Given the description of an element on the screen output the (x, y) to click on. 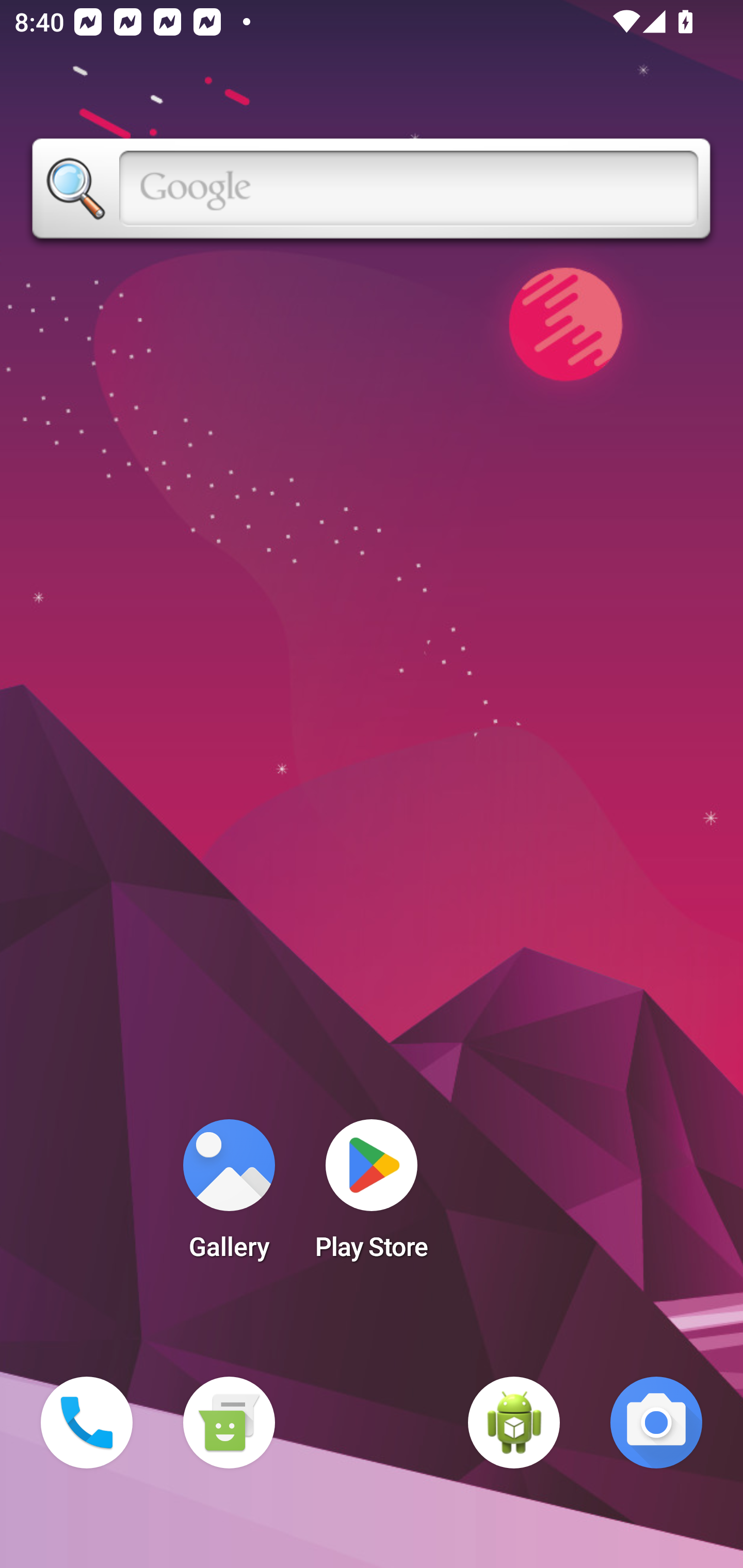
Gallery (228, 1195)
Play Store (371, 1195)
Phone (86, 1422)
Messaging (228, 1422)
WebView Browser Tester (513, 1422)
Camera (656, 1422)
